Given the description of an element on the screen output the (x, y) to click on. 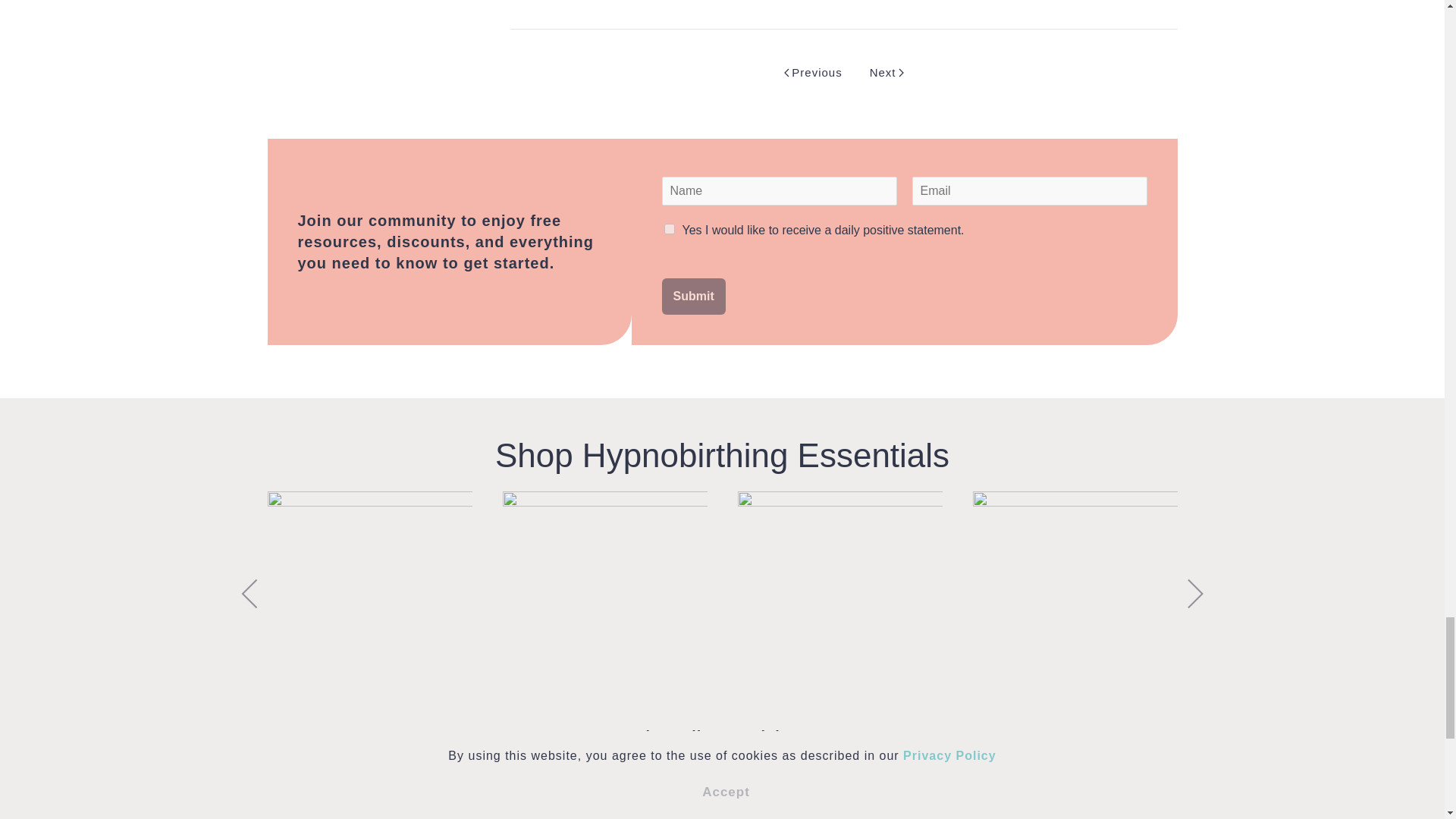
Yes I would like to receive a daily positive statement. (669, 228)
